Given the description of an element on the screen output the (x, y) to click on. 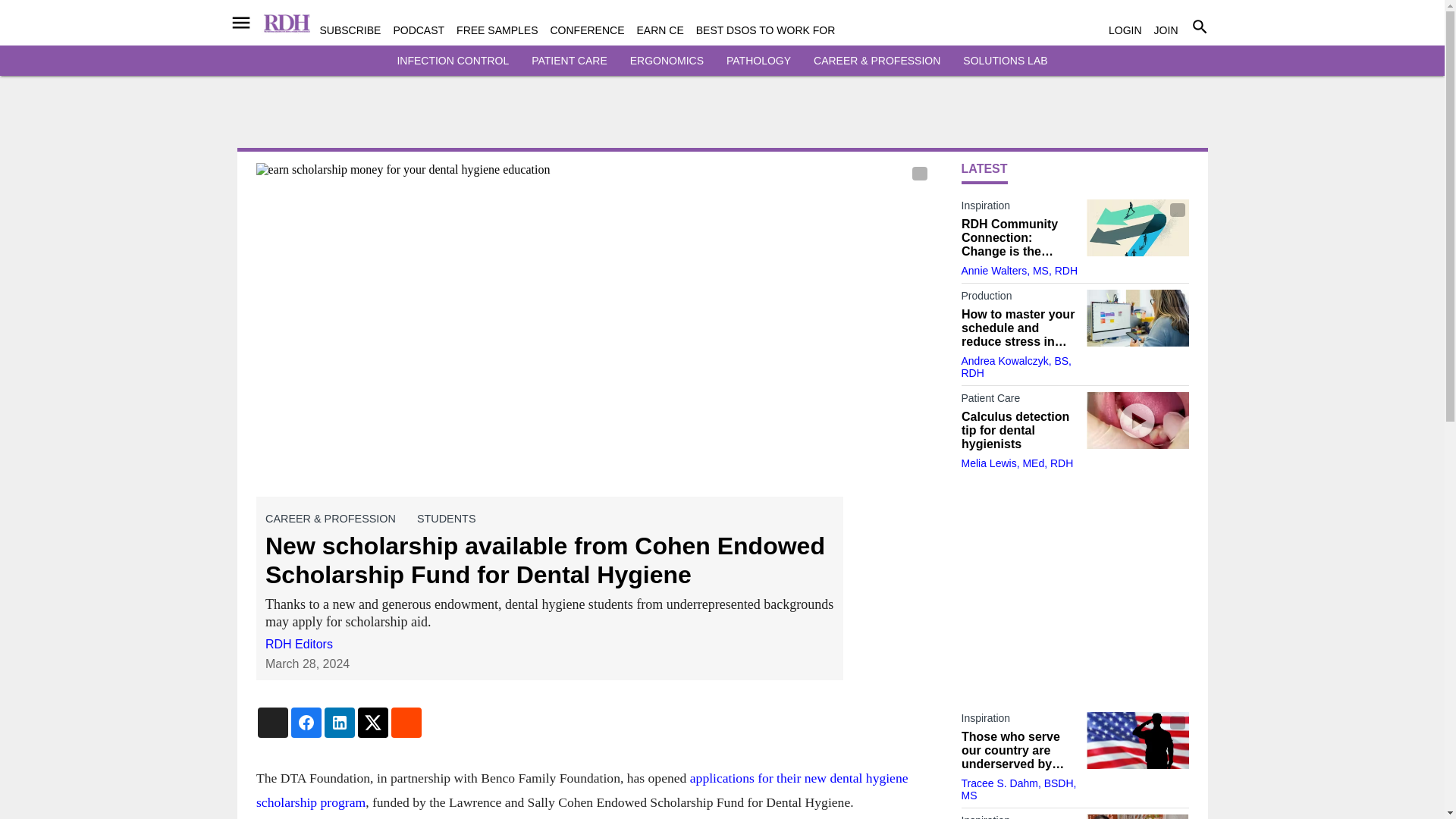
EARN CE (660, 30)
LOGIN (1124, 30)
ERGONOMICS (666, 60)
FREE SAMPLES (497, 30)
JOIN (1165, 30)
BEST DSOS TO WORK FOR (765, 30)
SUBSCRIBE (350, 30)
PODCAST (418, 30)
PATIENT CARE (569, 60)
SOLUTIONS LAB (1004, 60)
INFECTION CONTROL (452, 60)
CONFERENCE (587, 30)
PATHOLOGY (758, 60)
